Given the description of an element on the screen output the (x, y) to click on. 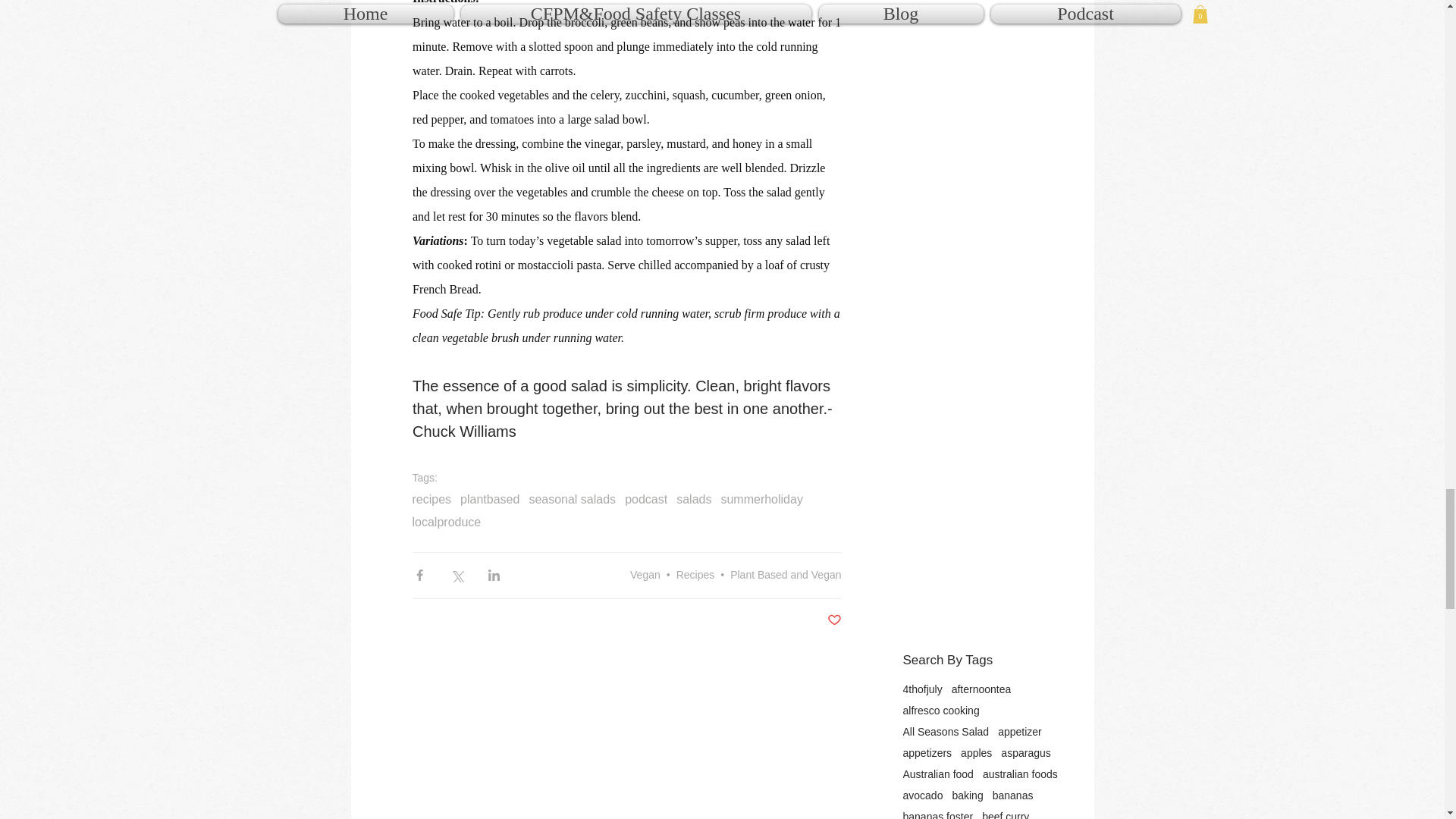
recipes (431, 499)
summerholiday (761, 499)
plantbased (489, 499)
Recipes (695, 574)
localproduce (446, 522)
salads (694, 499)
podcast (645, 499)
Plant Based and Vegan (785, 574)
Post not marked as liked (834, 620)
Vegan (645, 574)
